Given the description of an element on the screen output the (x, y) to click on. 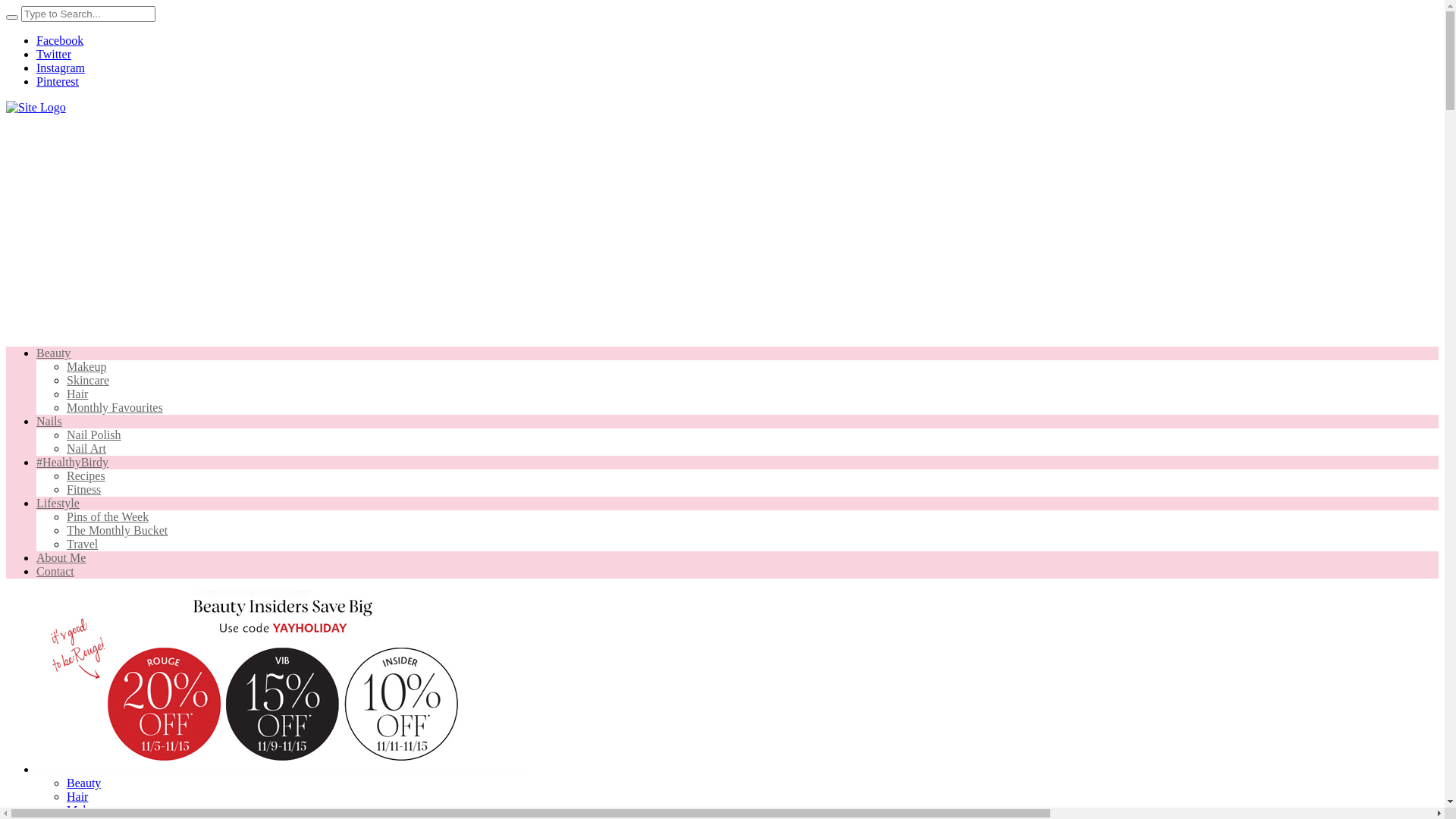
Advertisement Element type: hover (721, 228)
Pins of the Week Element type: text (107, 516)
#HealthyBirdy Element type: text (72, 461)
About Me Element type: text (60, 557)
Nail Art Element type: text (86, 448)
Monthly Favourites Element type: text (114, 407)
Pinterest Element type: text (57, 81)
Facebook Element type: text (59, 40)
Contact Element type: text (55, 570)
Recipes Element type: text (85, 475)
Hair Element type: text (76, 796)
Twitter Element type: text (53, 53)
Hair Element type: text (76, 393)
Fitness Element type: text (83, 489)
Skincare Element type: text (87, 379)
Nails Element type: text (49, 420)
Nail Polish Element type: text (93, 434)
Beauty Element type: text (83, 782)
Lifestyle Element type: text (57, 502)
Beauty Element type: text (53, 352)
Makeup Element type: text (86, 366)
Instagram Element type: text (60, 67)
Travel Element type: text (81, 543)
The Monthly Bucket Element type: text (116, 530)
Makeup Element type: text (86, 809)
